Given the description of an element on the screen output the (x, y) to click on. 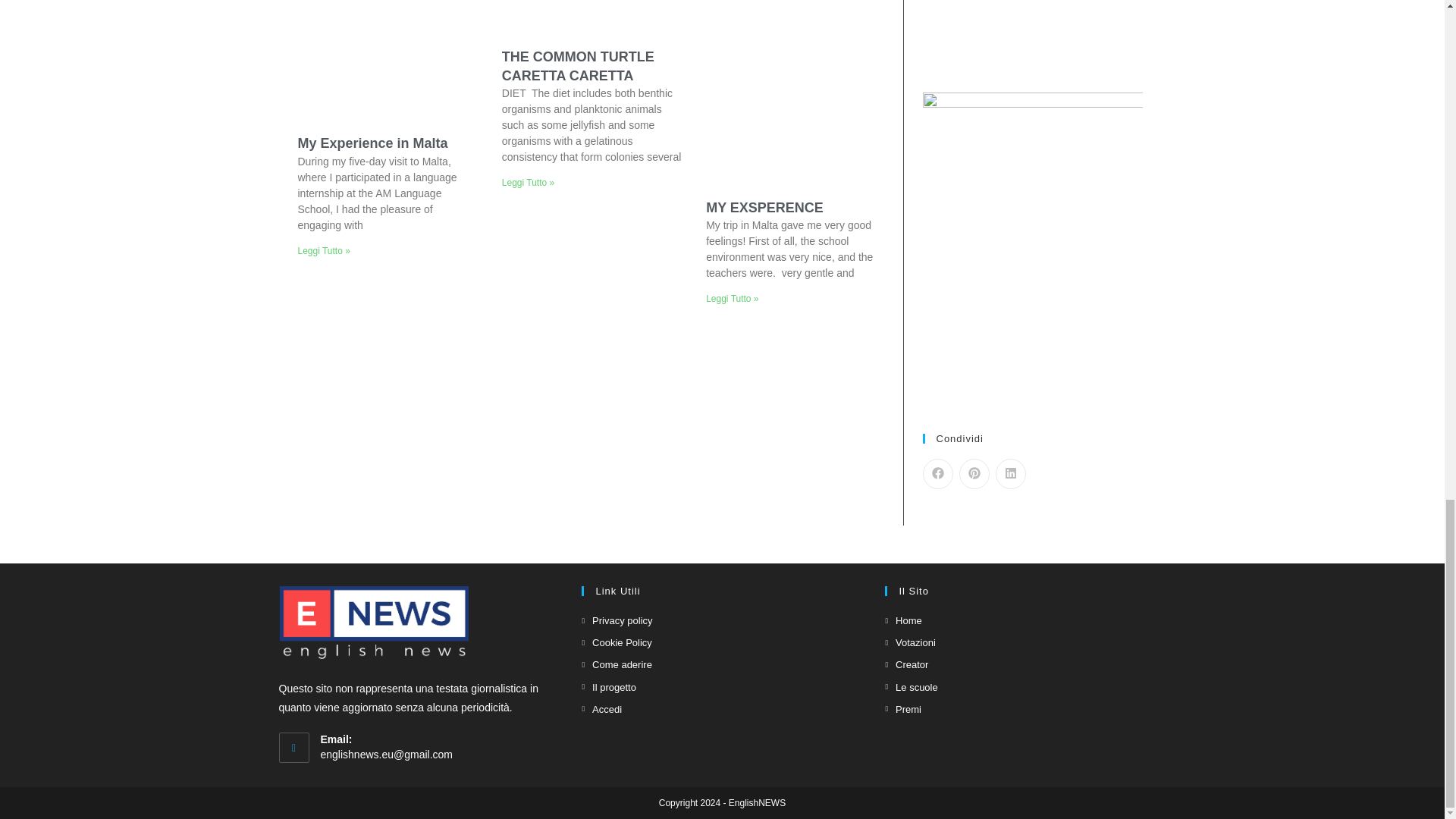
Share on Facebook (936, 473)
MY EXSPERENCE (765, 207)
Share on Pinterest (973, 473)
My Experience in Malta (371, 142)
Share on LinkedIn (1009, 473)
THE COMMON TURTLE CARETTA CARETTA (577, 66)
